Given the description of an element on the screen output the (x, y) to click on. 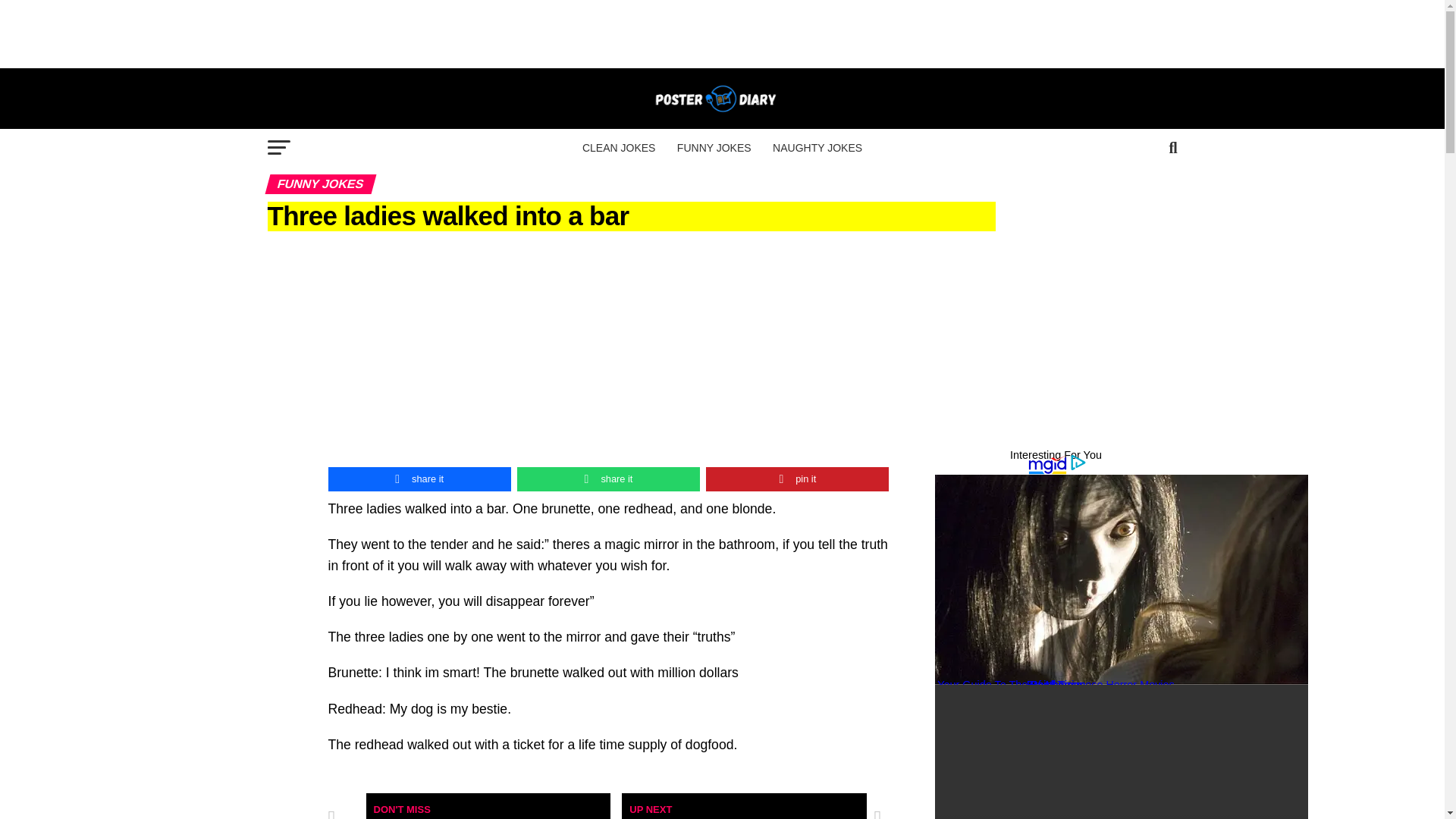
Submit this to Pinterest (797, 478)
Share this on Facebook (419, 478)
FUNNY JOKES (714, 147)
pin it (797, 478)
Advertisement (721, 33)
WhatsApp (608, 478)
share it (608, 478)
CLEAN JOKES (618, 147)
NAUGHTY JOKES (816, 147)
share it (419, 478)
